Given the description of an element on the screen output the (x, y) to click on. 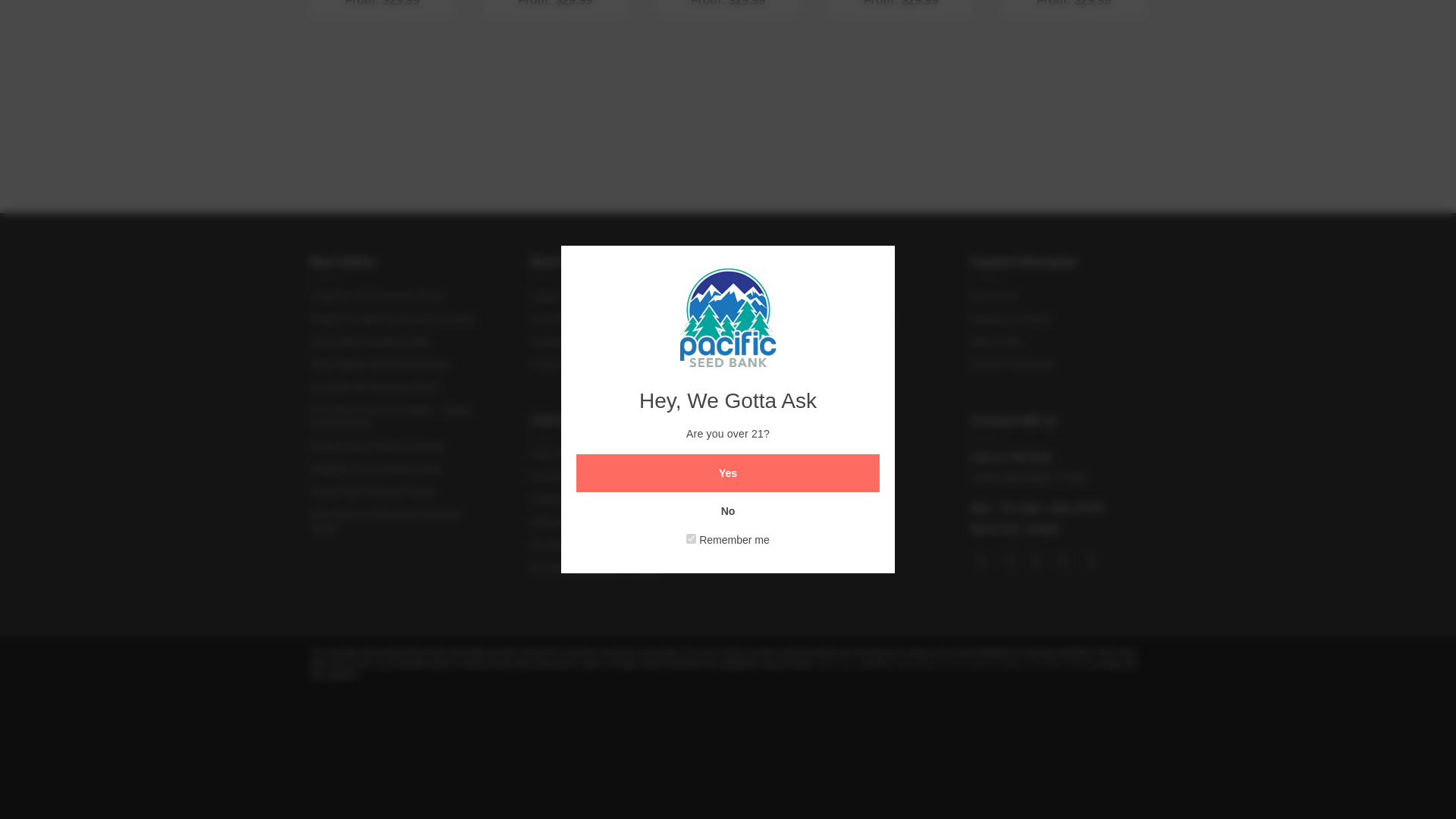
ACDC CBD Feminized Seeds (381, 63)
Blueberry CBD Feminized Seeds (727, 63)
Harle-Tsu CBD Feminized Seeds (1073, 63)
Harlequin CBD Feminized Seeds (555, 63)
Hawaiian Dream CBD Feminized Seeds (900, 63)
